Given the description of an element on the screen output the (x, y) to click on. 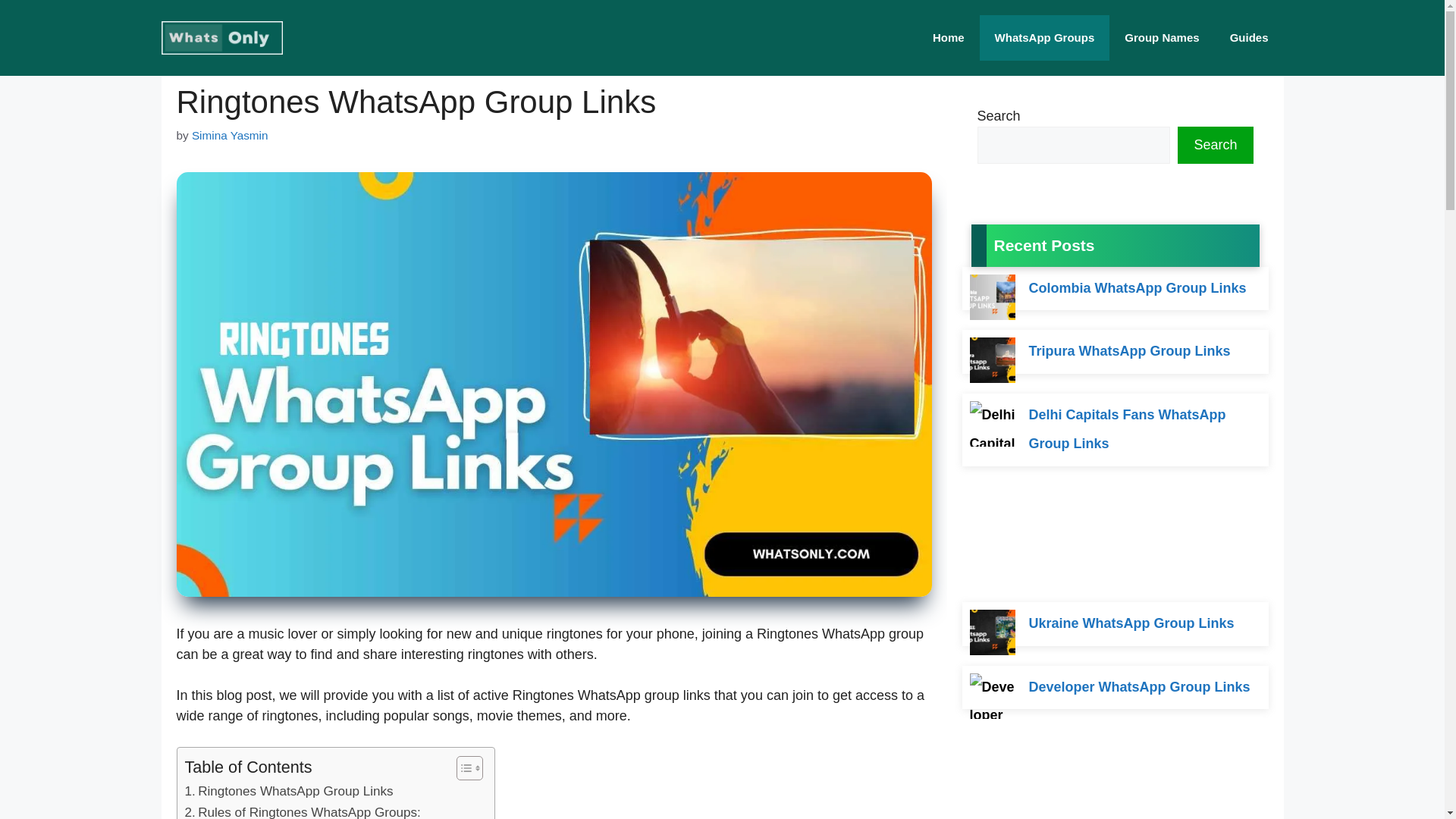
WhatsApp Groups (1044, 37)
Colombia WhatsApp Group Links (1136, 287)
Ringtones WhatsApp Group Links (288, 791)
Search (1214, 144)
Home (948, 37)
Tripura WhatsApp Group Links (1128, 350)
Rules of Ringtones WhatsApp Groups: (302, 810)
Delhi Capitals Fans WhatsApp Group Links (1126, 429)
Simina Yasmin (229, 134)
Rules of Ringtones WhatsApp Groups: (302, 810)
